Given the description of an element on the screen output the (x, y) to click on. 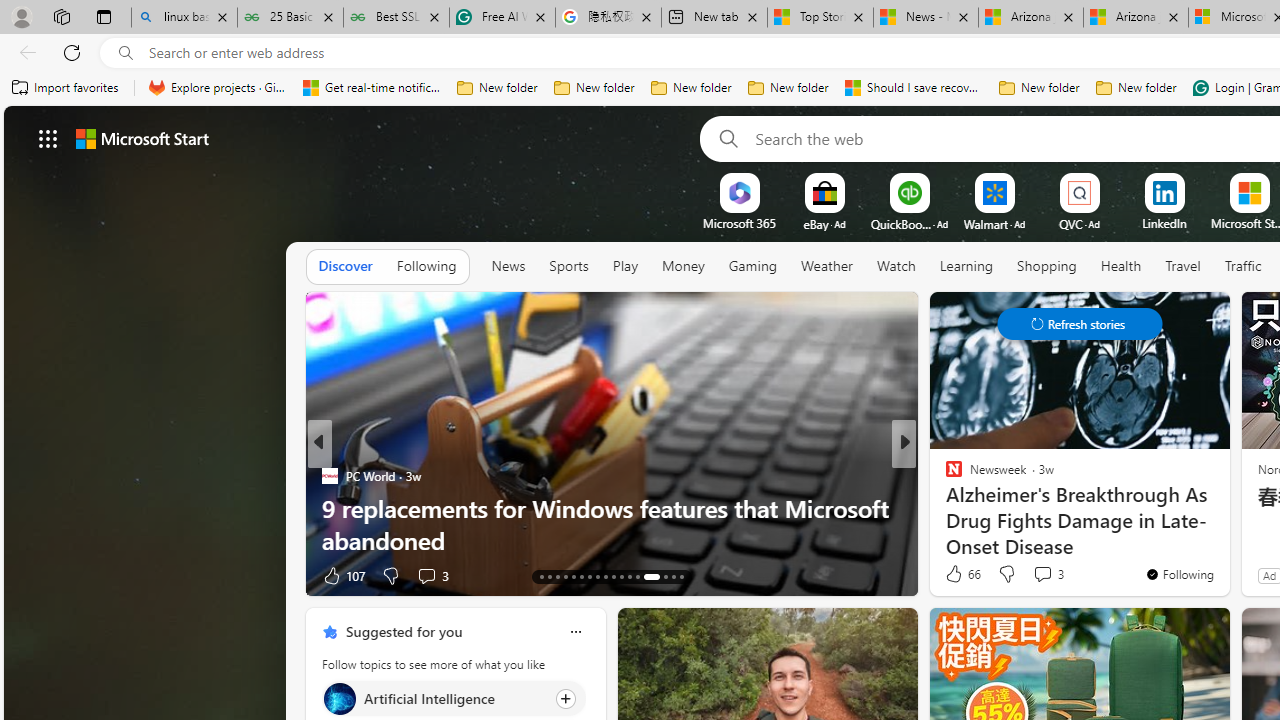
AutomationID: tab-23 (620, 576)
Learning (966, 267)
9 replacements for Windows features that Microsoft abandoned (611, 523)
AutomationID: tab-29 (681, 576)
Reader's Digest (944, 475)
Learning (965, 265)
Shopping (1047, 265)
AutomationID: tab-24 (628, 576)
Body Network (944, 475)
